Given the description of an element on the screen output the (x, y) to click on. 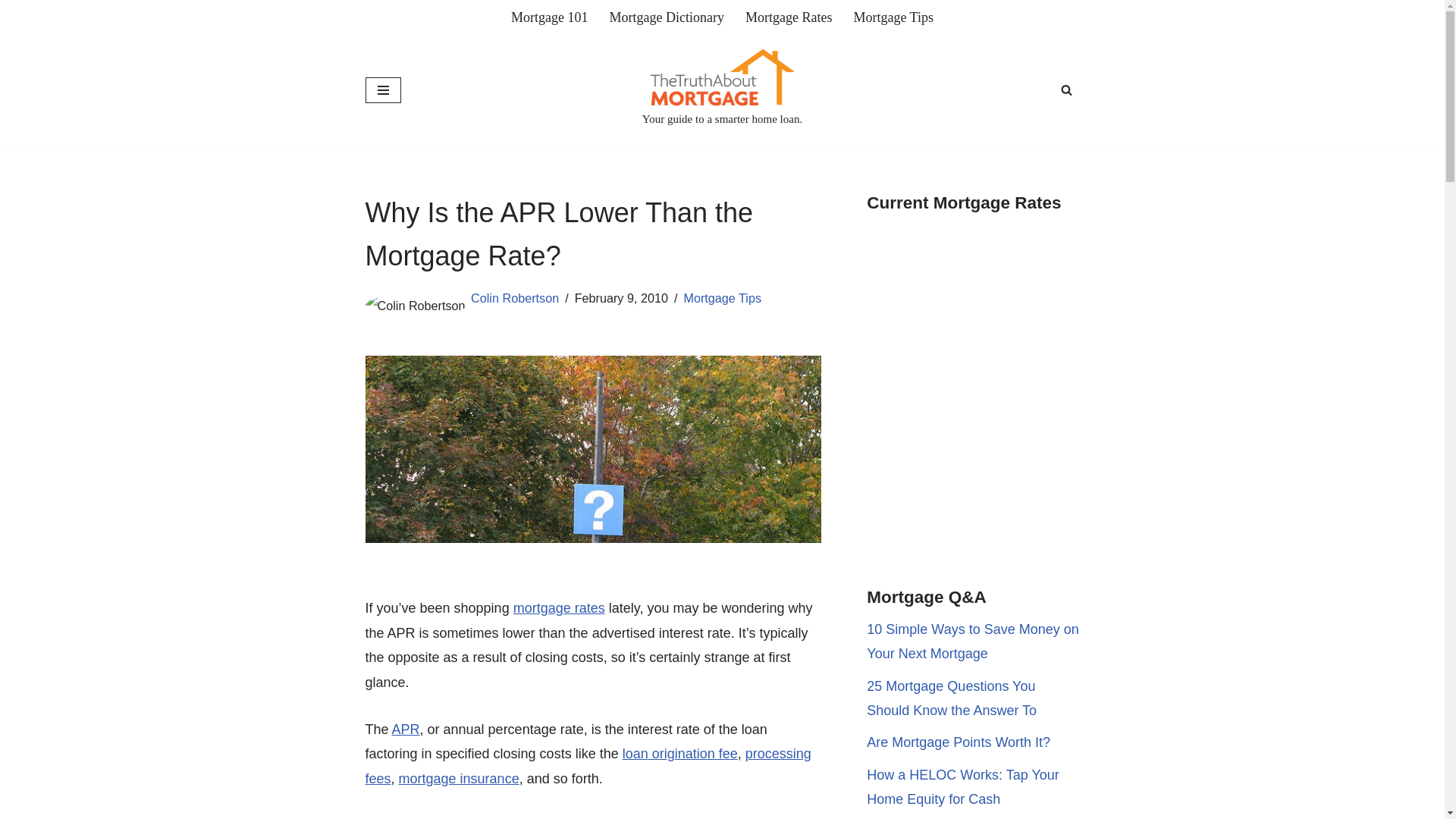
Navigation Menu (383, 89)
Mortgage Tips (893, 16)
Mortgage Rates (788, 16)
Mortgage 101 (549, 16)
Skip to content (11, 31)
Mortgage Dictionary (666, 16)
Mortgage Tips (893, 16)
Mortgage 101 (549, 16)
Your guide to a smarter home loan. (722, 89)
Mortgage Rates (788, 16)
